Given the description of an element on the screen output the (x, y) to click on. 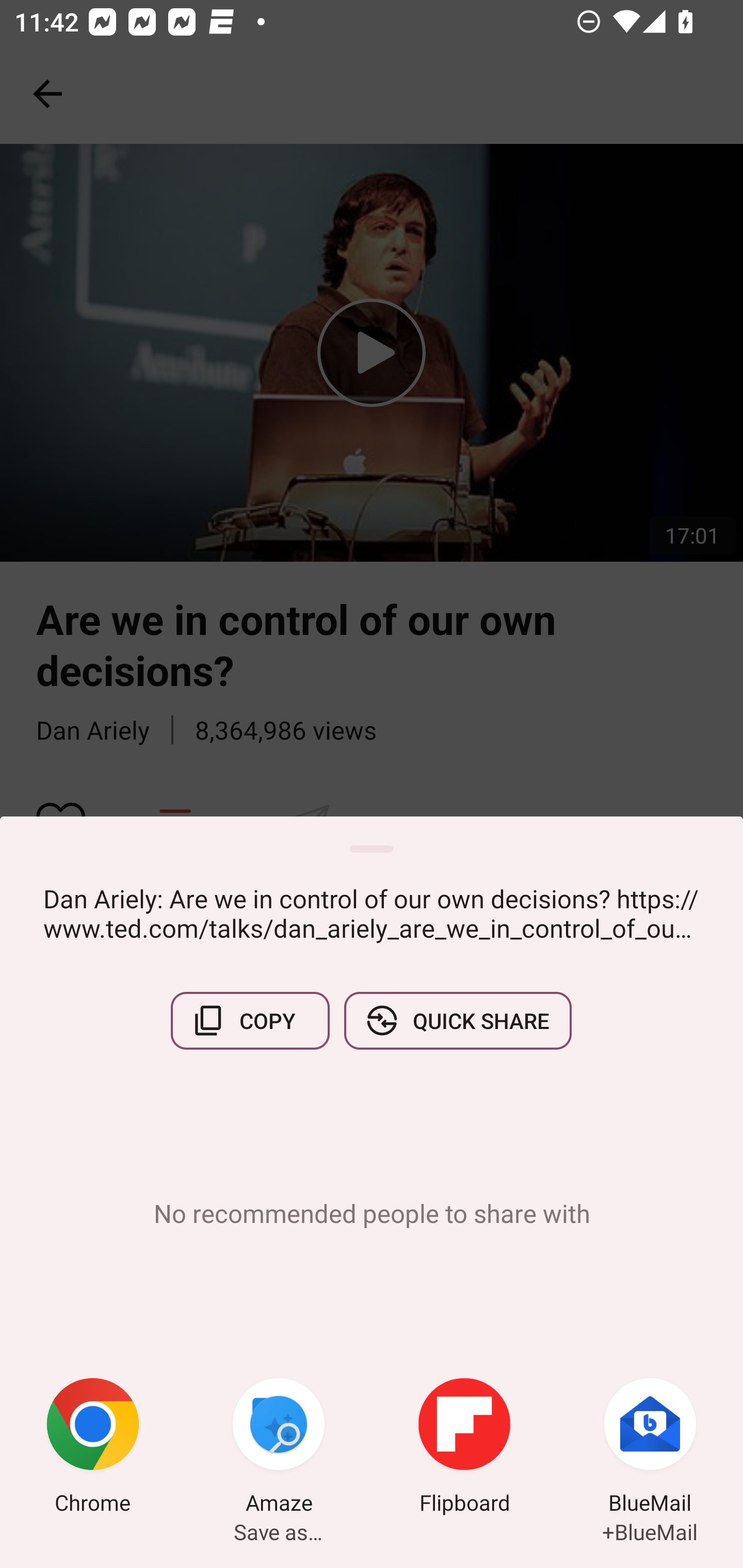
COPY (249, 1020)
QUICK SHARE (457, 1020)
Chrome (92, 1448)
Amaze Save as… (278, 1448)
Flipboard (464, 1448)
BlueMail +BlueMail (650, 1448)
